Given the description of an element on the screen output the (x, y) to click on. 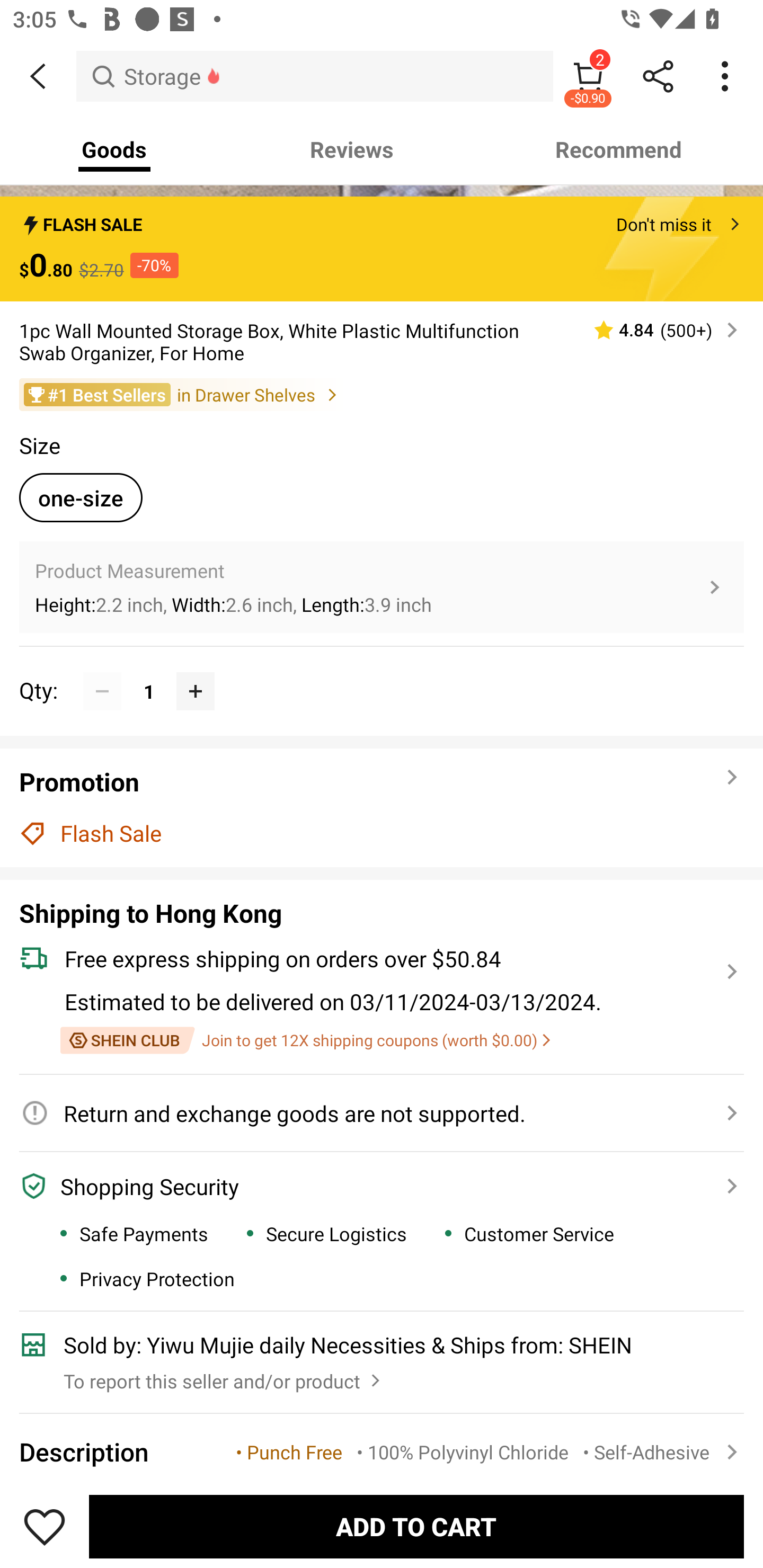
BACK (38, 75)
2 -$0.90 (588, 75)
Storage (314, 75)
Goods (114, 149)
Reviews (351, 149)
Recommend (618, 149)
FLASH SALE Don't miss it $0.80 $2.70 -70% (381, 248)
FLASH SALE Don't miss it (381, 219)
4.84 (500‎+) (658, 329)
#1 Best Sellers in Drawer Shelves (381, 393)
Size (39, 444)
one-size one-sizeselected option (80, 497)
Qty: 1 (381, 671)
Promotion Flash Sale (381, 807)
Join to get 12X shipping coupons (worth $0.00) (305, 1040)
Return and exchange goods are not supported. (370, 1112)
To report this seller and/or product   (224, 1376)
ADD TO CART (416, 1526)
Save (44, 1526)
